Given the description of an element on the screen output the (x, y) to click on. 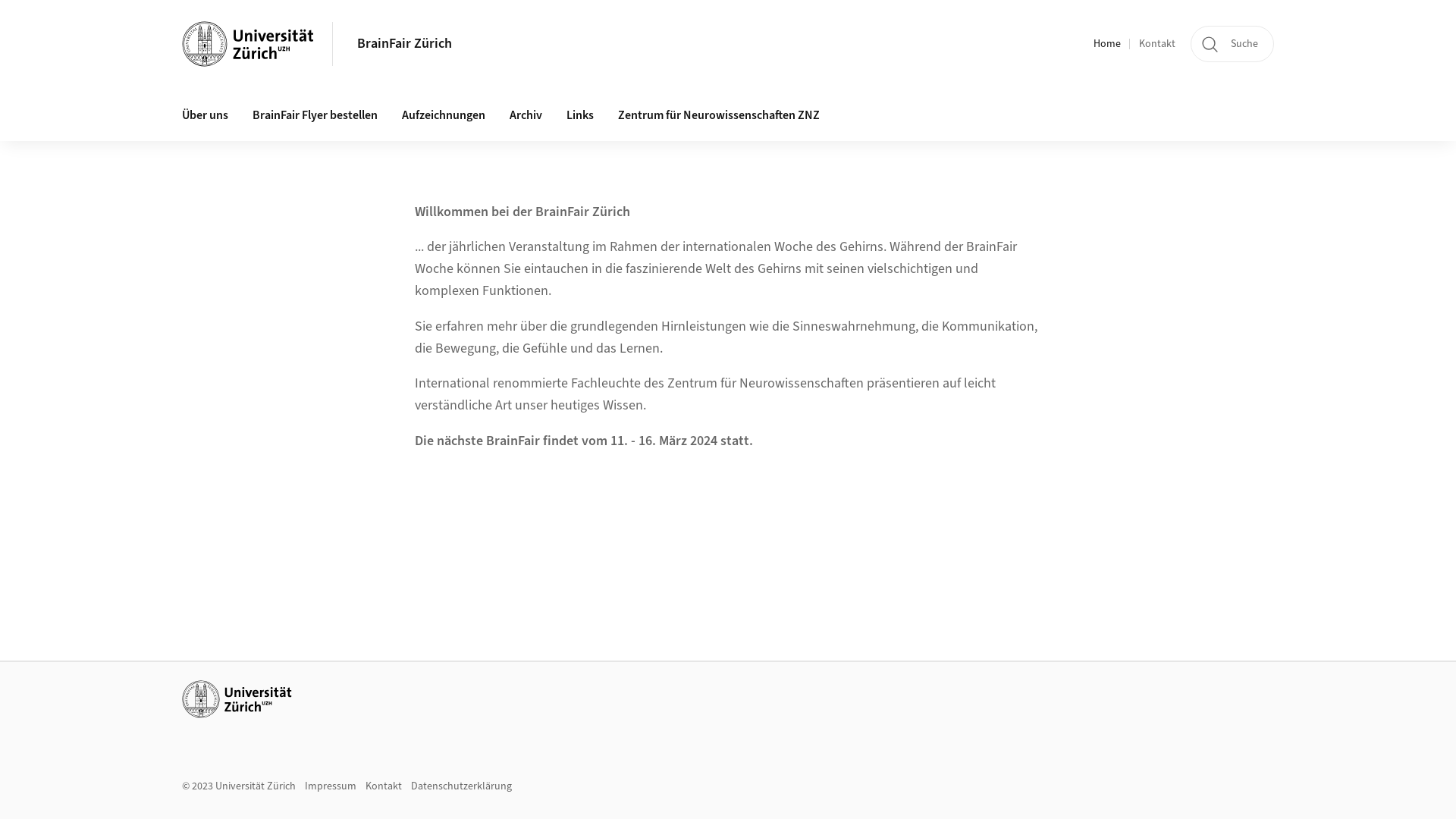
Kontakt Element type: text (383, 785)
Kontakt Element type: text (1157, 44)
Home Element type: text (1106, 44)
Archiv Element type: text (525, 116)
Impressum Element type: text (330, 785)
Links Element type: text (579, 116)
BrainFair Flyer bestellen Element type: text (314, 116)
Suche Element type: text (1232, 43)
Aufzeichnungen Element type: text (443, 116)
